Given the description of an element on the screen output the (x, y) to click on. 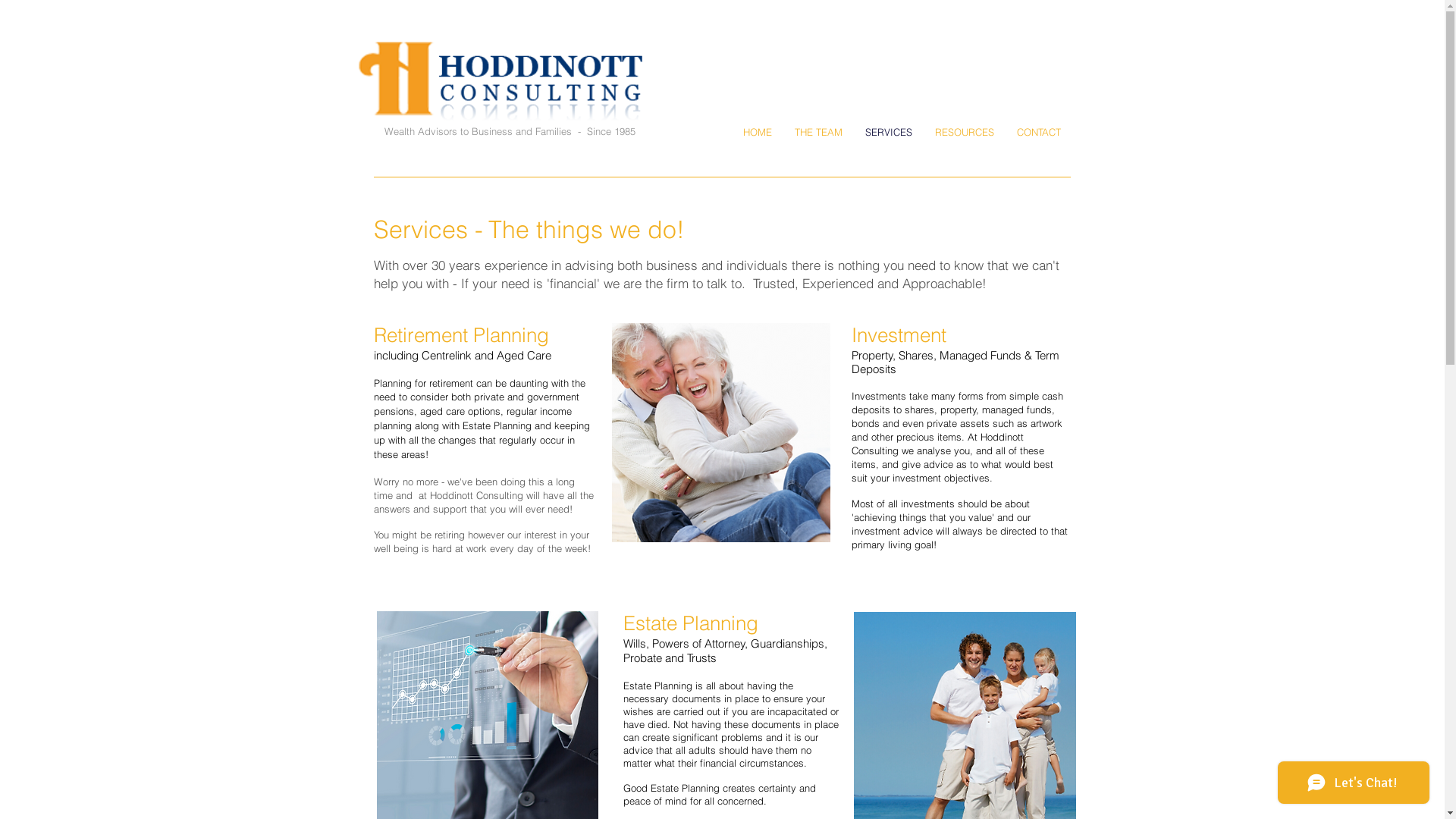
SERVICES Element type: text (888, 132)
RESOURCES Element type: text (964, 132)
THE TEAM Element type: text (818, 132)
HOME Element type: text (757, 132)
CONTACT Element type: text (1038, 132)
